Given the description of an element on the screen output the (x, y) to click on. 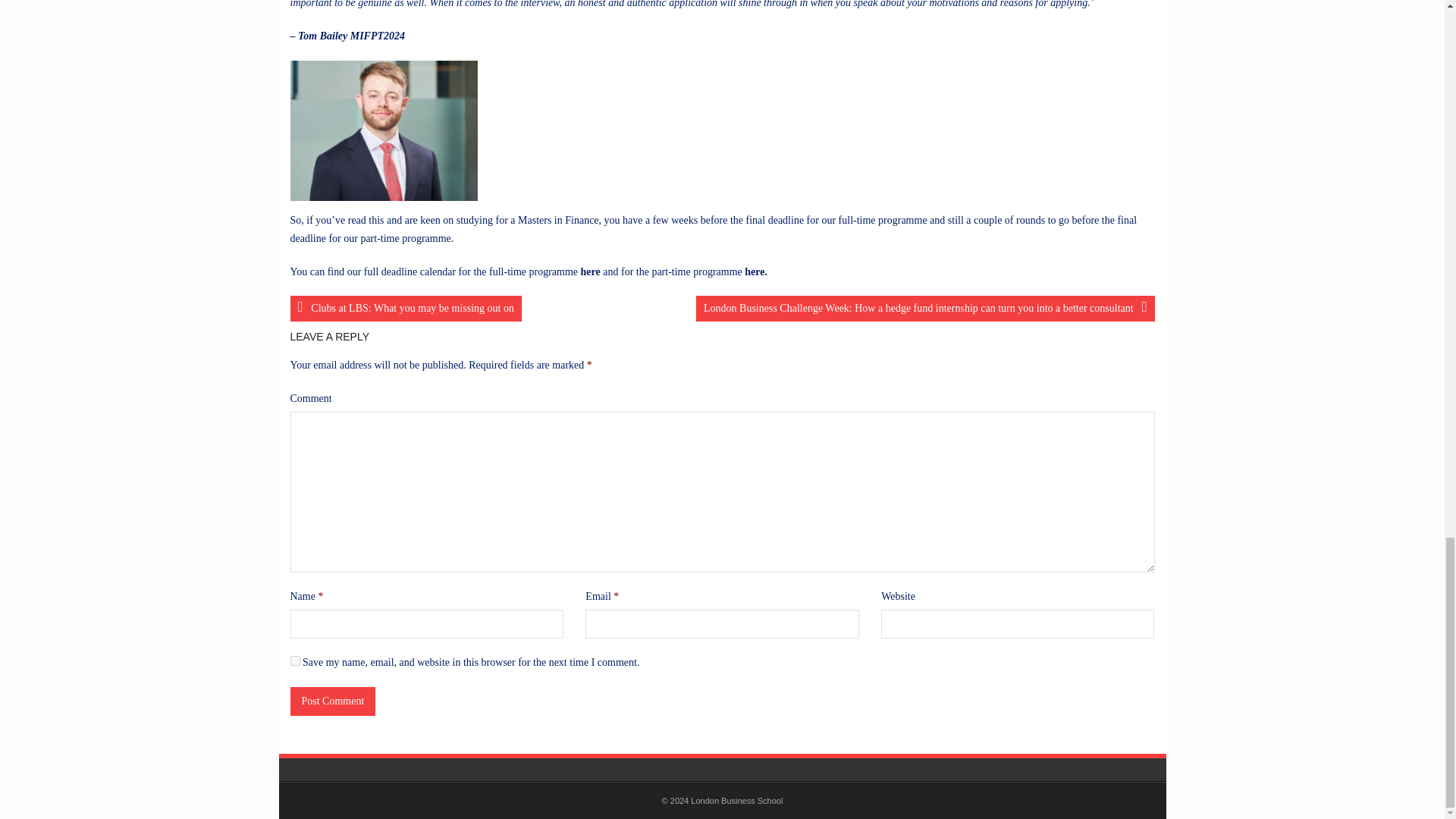
Post Comment (332, 701)
yes (294, 660)
